Given the description of an element on the screen output the (x, y) to click on. 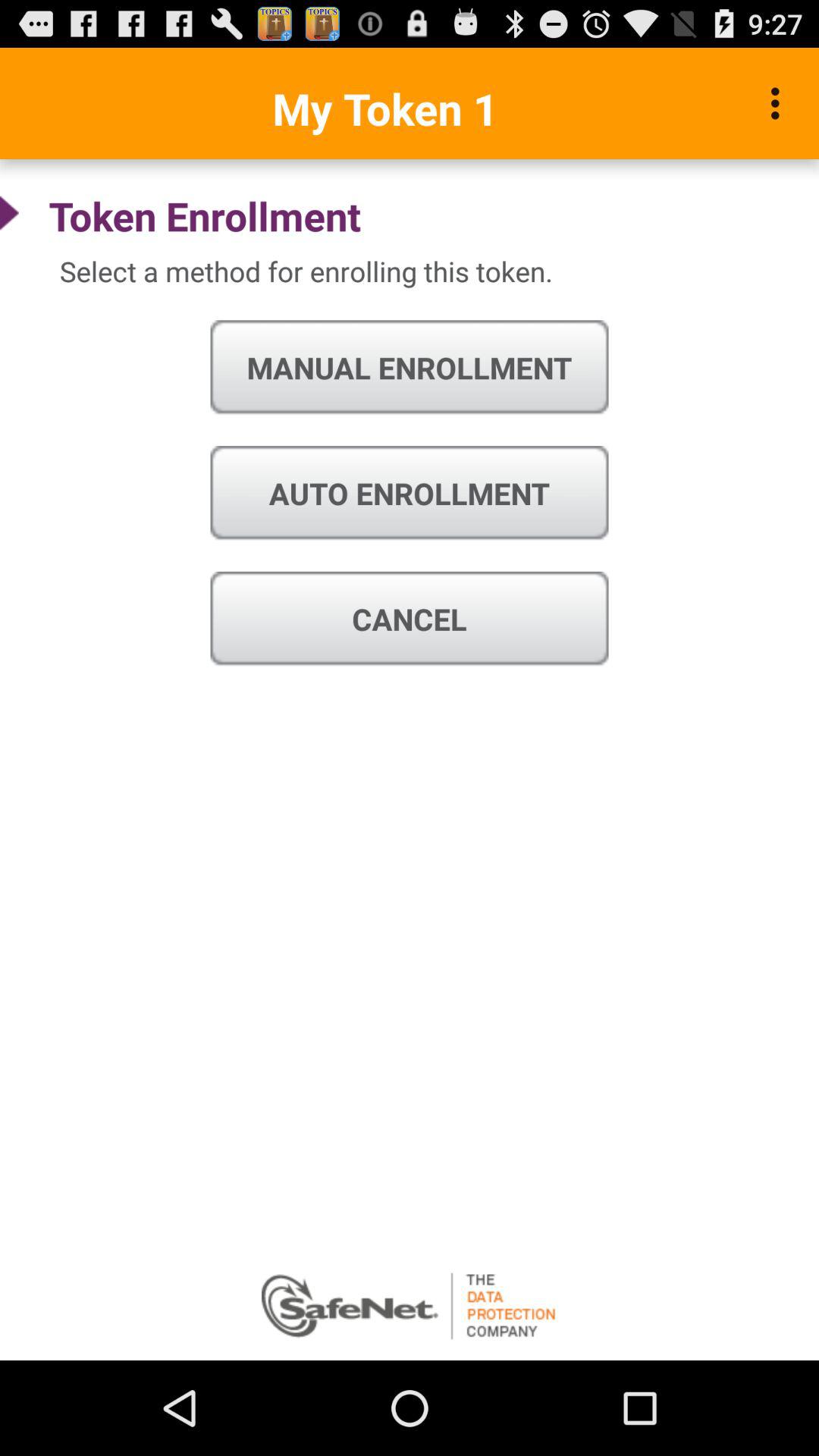
press the icon below the auto enrollment icon (409, 619)
